Given the description of an element on the screen output the (x, y) to click on. 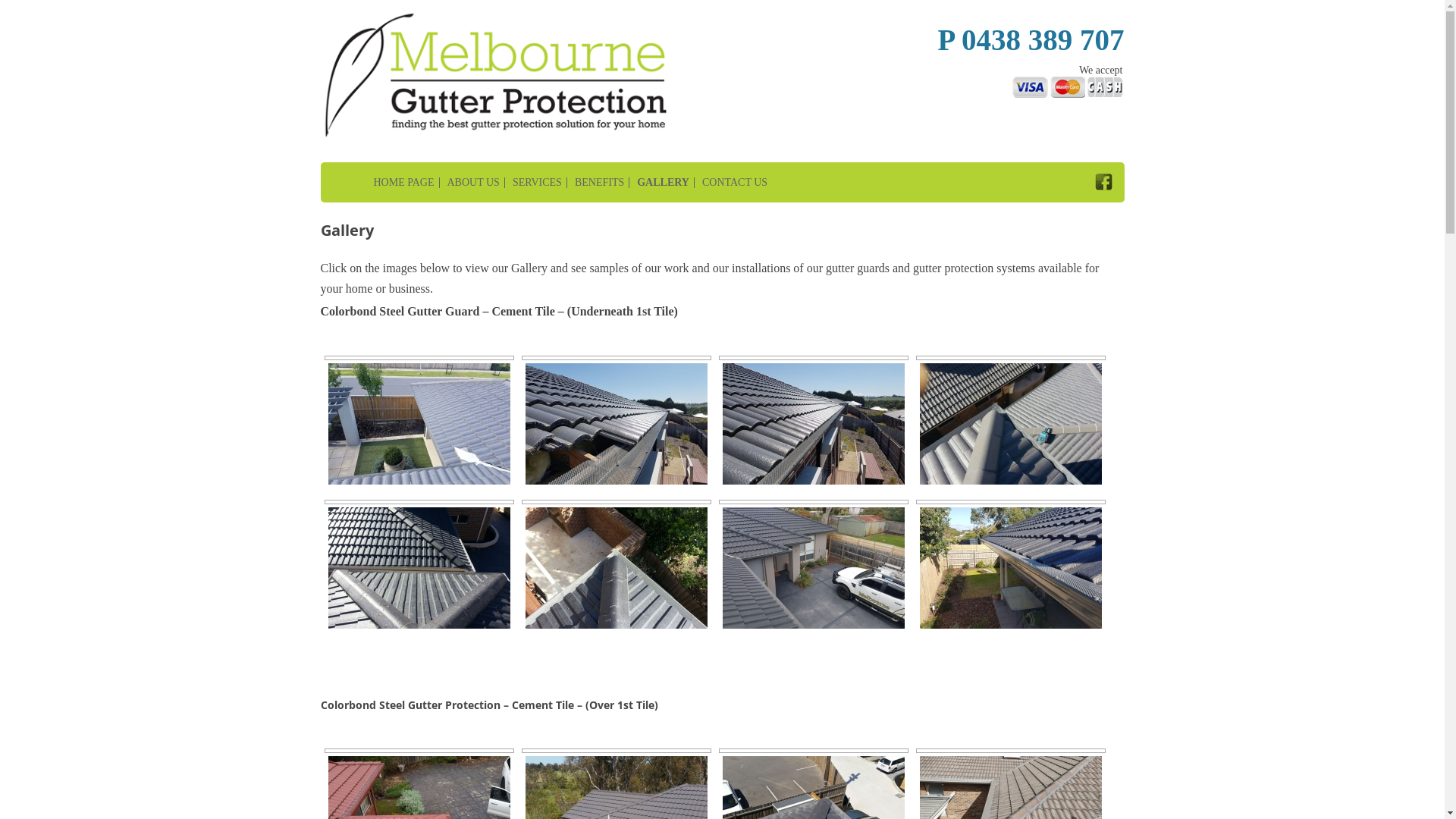
BENEFITS Element type: text (595, 182)
CementTileBoralSlimlineColorbondGutterGuard Element type: hover (615, 565)
GALLERY Element type: text (659, 182)
SERVICES Element type: text (533, 182)
CementTilePushedBackColorbondGutterGuard Element type: hover (615, 421)
P 0438 389 707 Element type: text (1031, 39)
HOME PAGE Element type: text (377, 182)
CONTACT US Element type: text (730, 182)
Melbourne Gutter Protection Element type: text (451, 11)
ABOUT US Element type: text (469, 182)
CementTileElbanaColorbondGutterGuard Element type: hover (418, 421)
CementTileTudorColorbondGutterGuard Element type: hover (418, 565)
CementTileMonierTudorColorbondGutterGuard Element type: hover (1010, 565)
CementTileMonierTudorColorbondGutterProtection Element type: hover (812, 565)
CementTileBoralMacquarieColorbondGutterGuard Element type: hover (1010, 421)
CementTilePulledForwardColorbondGutterGuard Element type: hover (812, 421)
